Given the description of an element on the screen output the (x, y) to click on. 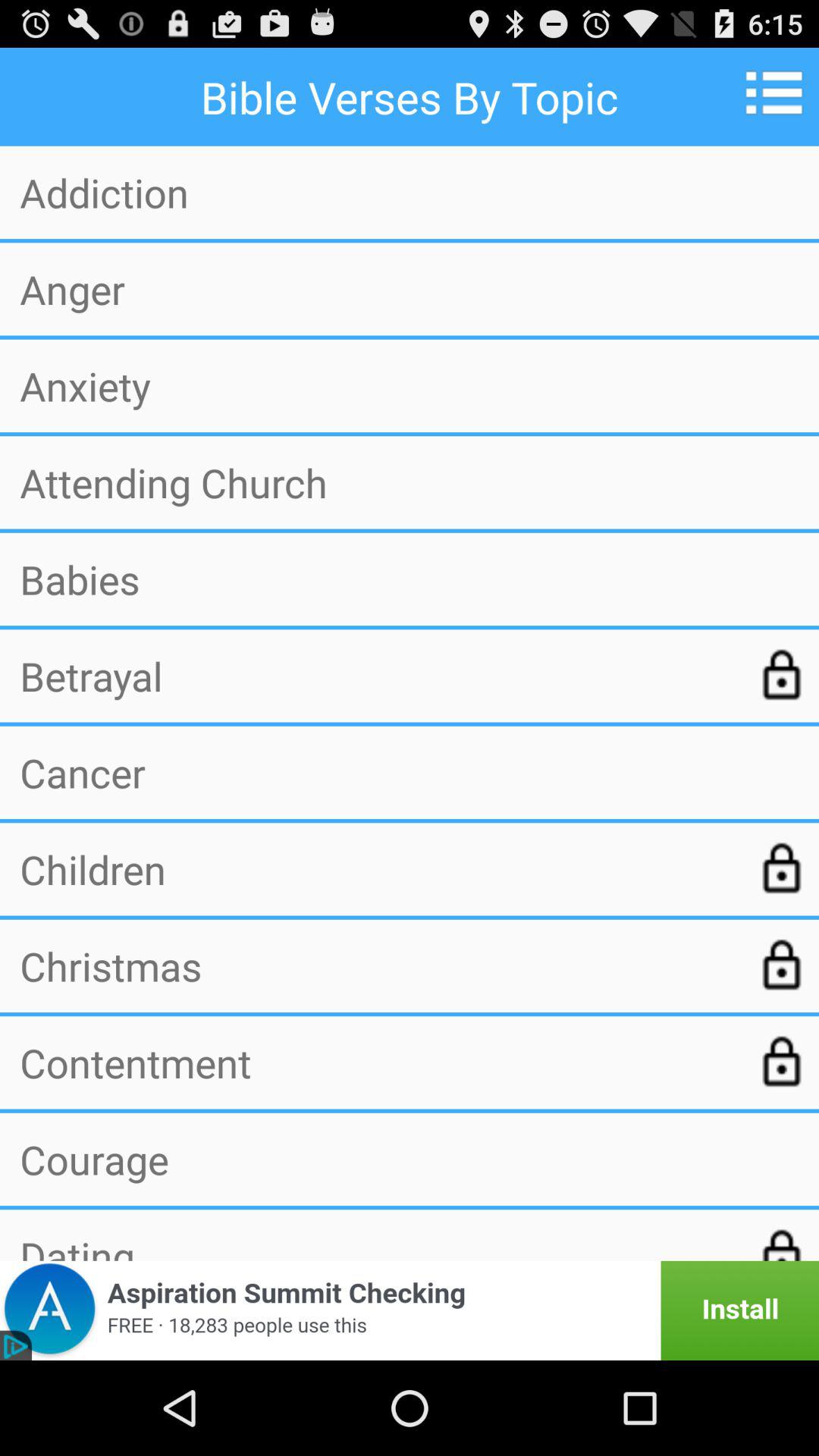
tap icon above the christmas (376, 868)
